Given the description of an element on the screen output the (x, y) to click on. 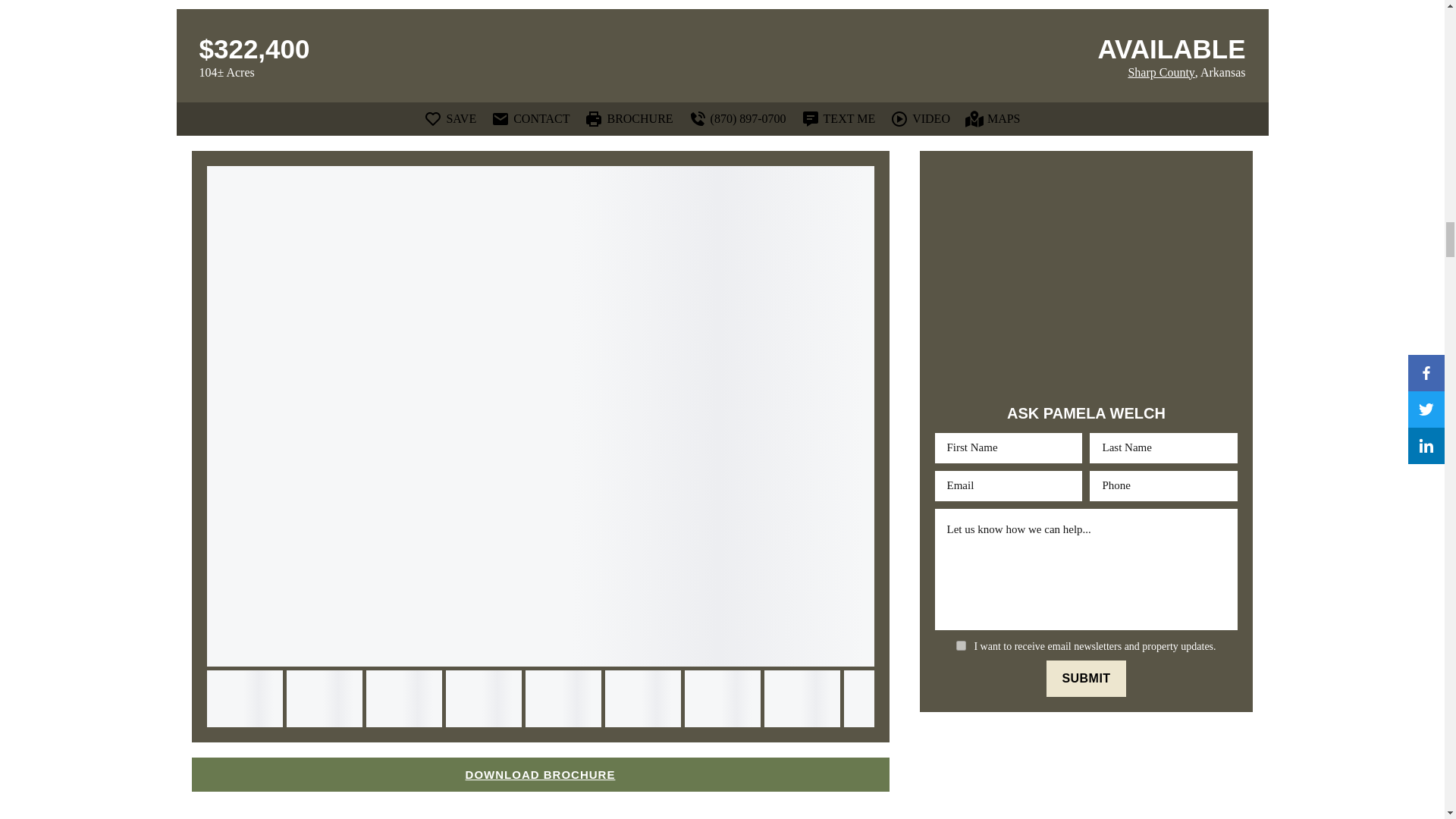
VIDEO (919, 118)
Save (449, 118)
Sharp County, AR (1159, 72)
BROCHURE (628, 118)
DOWNLOAD BROCHURE (539, 774)
CONTACT (530, 118)
Submit (1085, 678)
Save (824, 185)
1 (961, 645)
Sharp County (1159, 72)
TEXT ME (839, 118)
Submit (1085, 678)
MAPS (992, 118)
PLAY VIDEO (280, 639)
SAVE (449, 118)
